Given the description of an element on the screen output the (x, y) to click on. 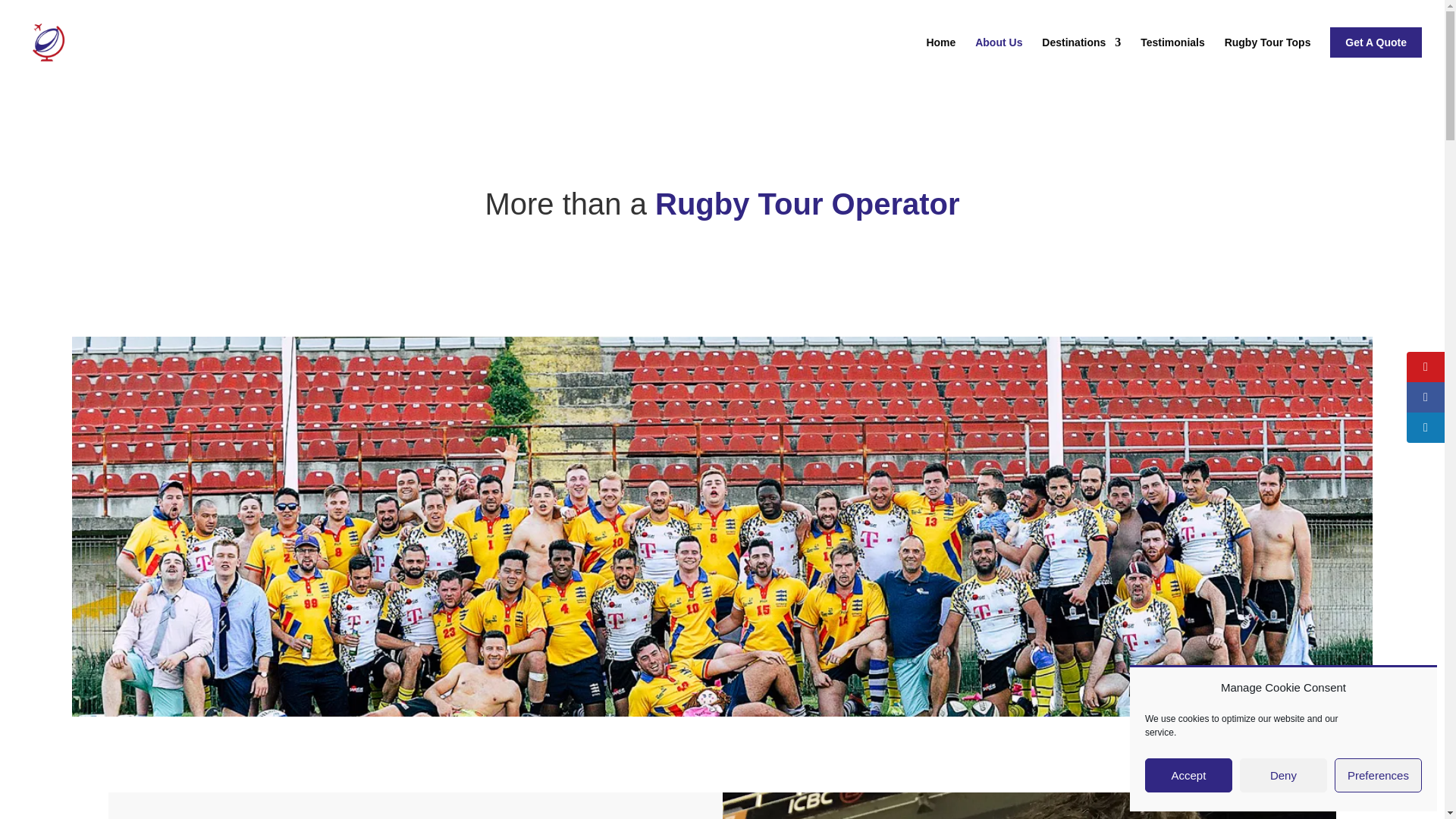
Get A Quote (1376, 55)
Rugby Tour Tops (1267, 55)
Preferences (1378, 775)
Accept (1187, 775)
Deny (1283, 775)
Testimonials (1172, 55)
Destinations (1081, 55)
About Us (998, 55)
